Given the description of an element on the screen output the (x, y) to click on. 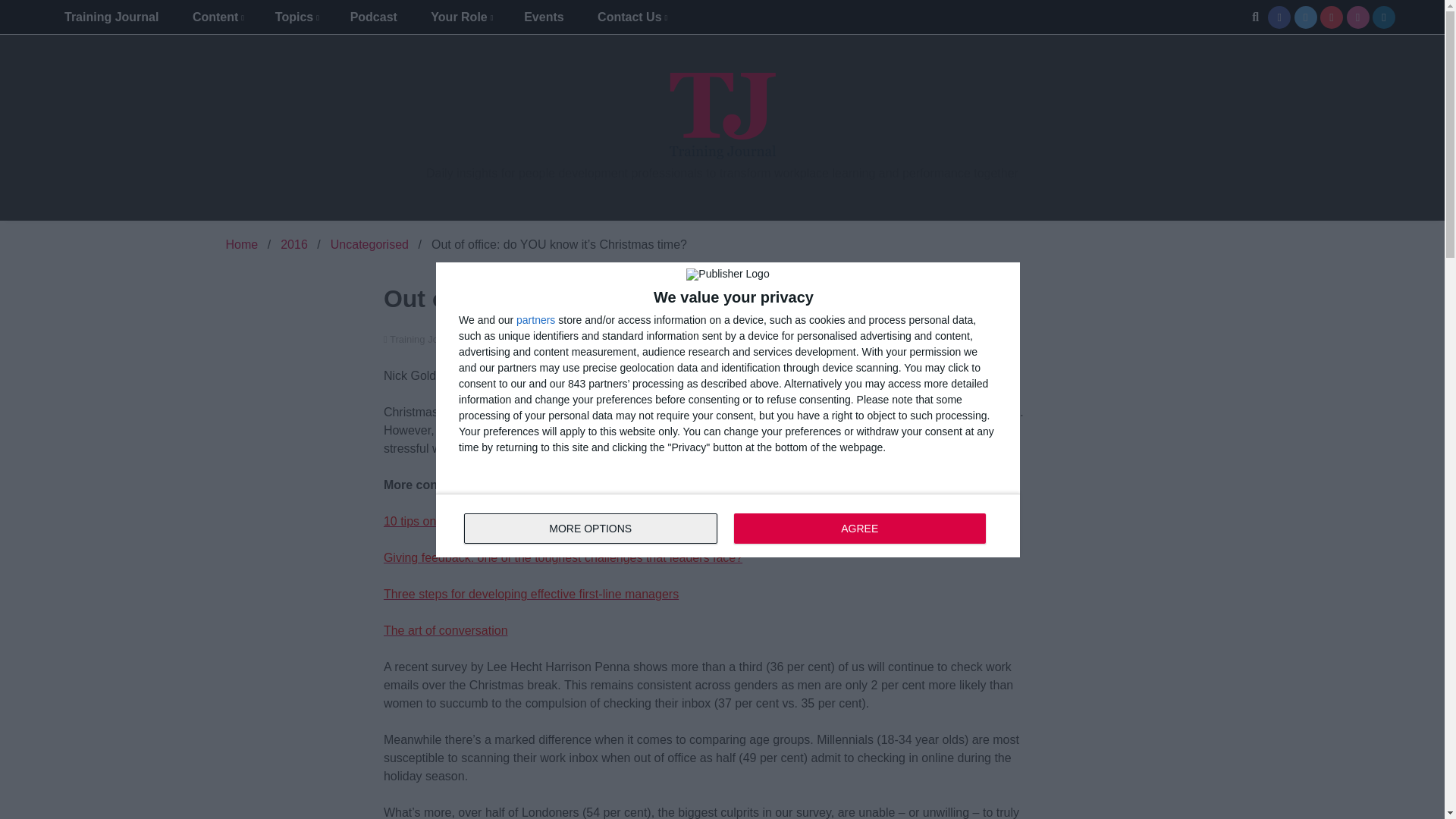
AGREE (859, 527)
Topics (295, 17)
Content (216, 17)
MORE OPTIONS (590, 527)
Estimated Reading Time of Article (912, 338)
Training Journal (111, 17)
Your Role (459, 17)
partners (535, 318)
Podcast (373, 17)
